Given the description of an element on the screen output the (x, y) to click on. 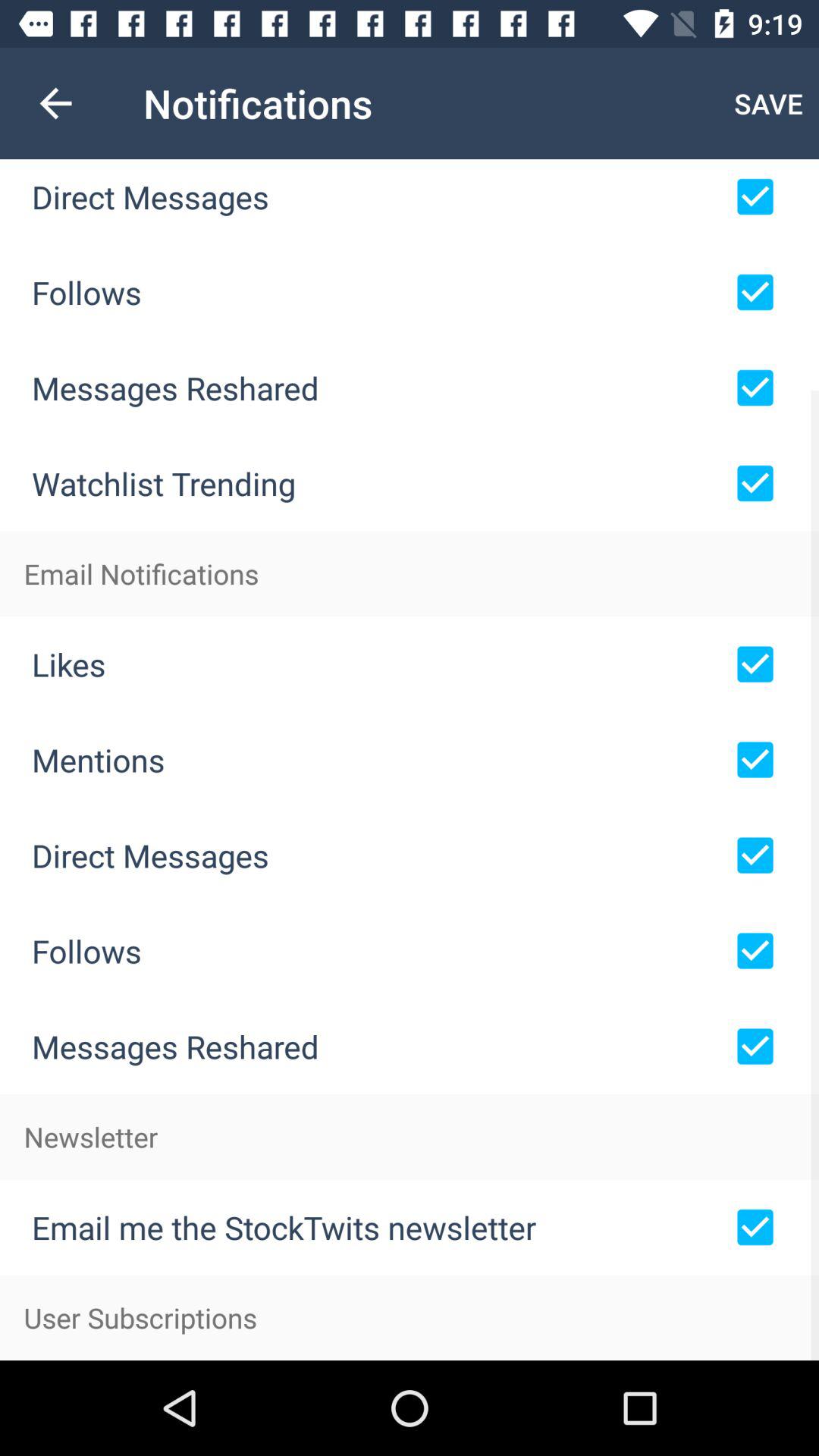
tap the icon above the direct messages icon (55, 103)
